Given the description of an element on the screen output the (x, y) to click on. 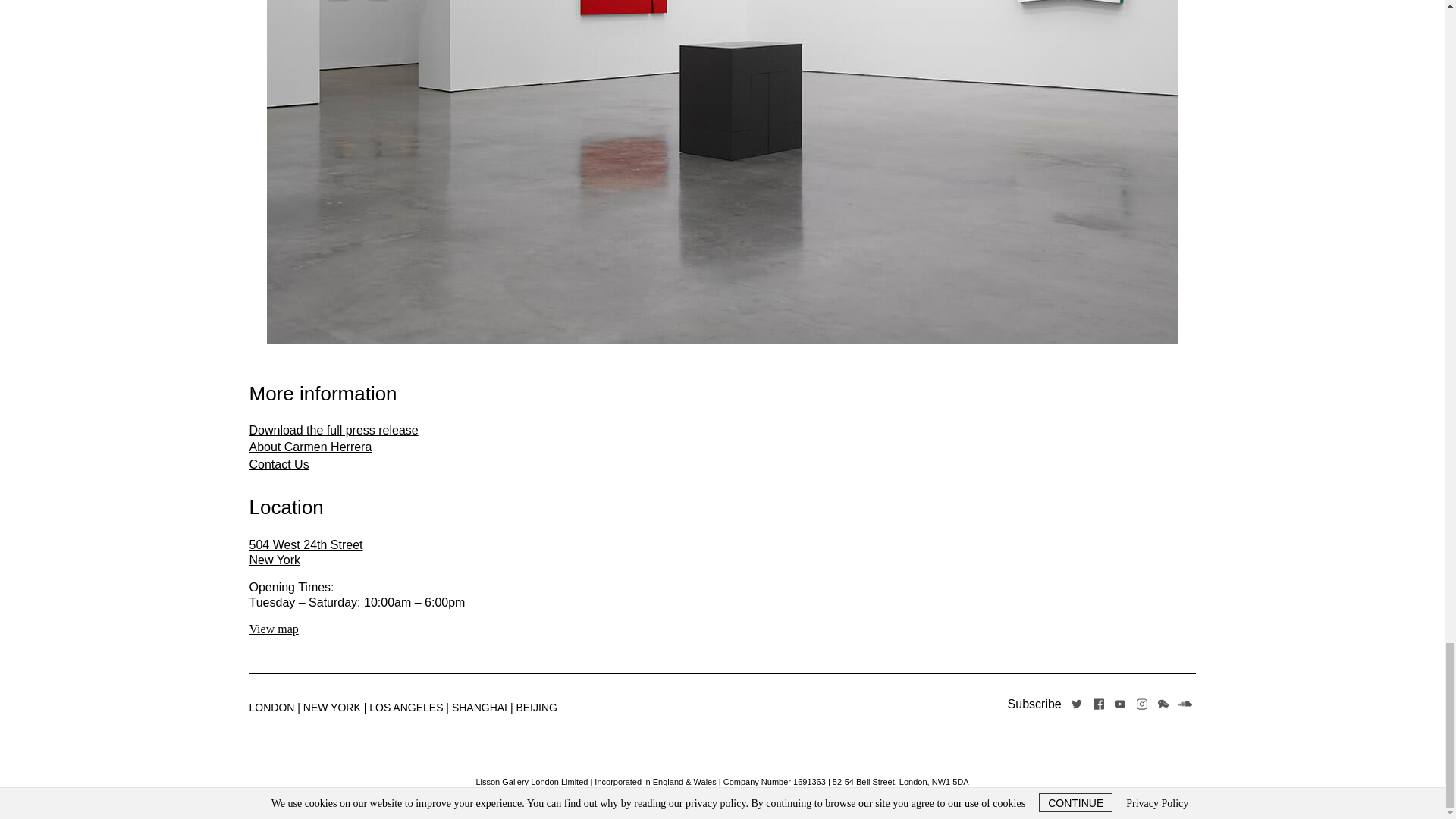
Contact Us (278, 463)
Download the full press release (332, 430)
View map (273, 628)
PRIVACY POLICY (683, 793)
MSA STATEMENT (305, 552)
About Carmen Herrera (759, 793)
